Given the description of an element on the screen output the (x, y) to click on. 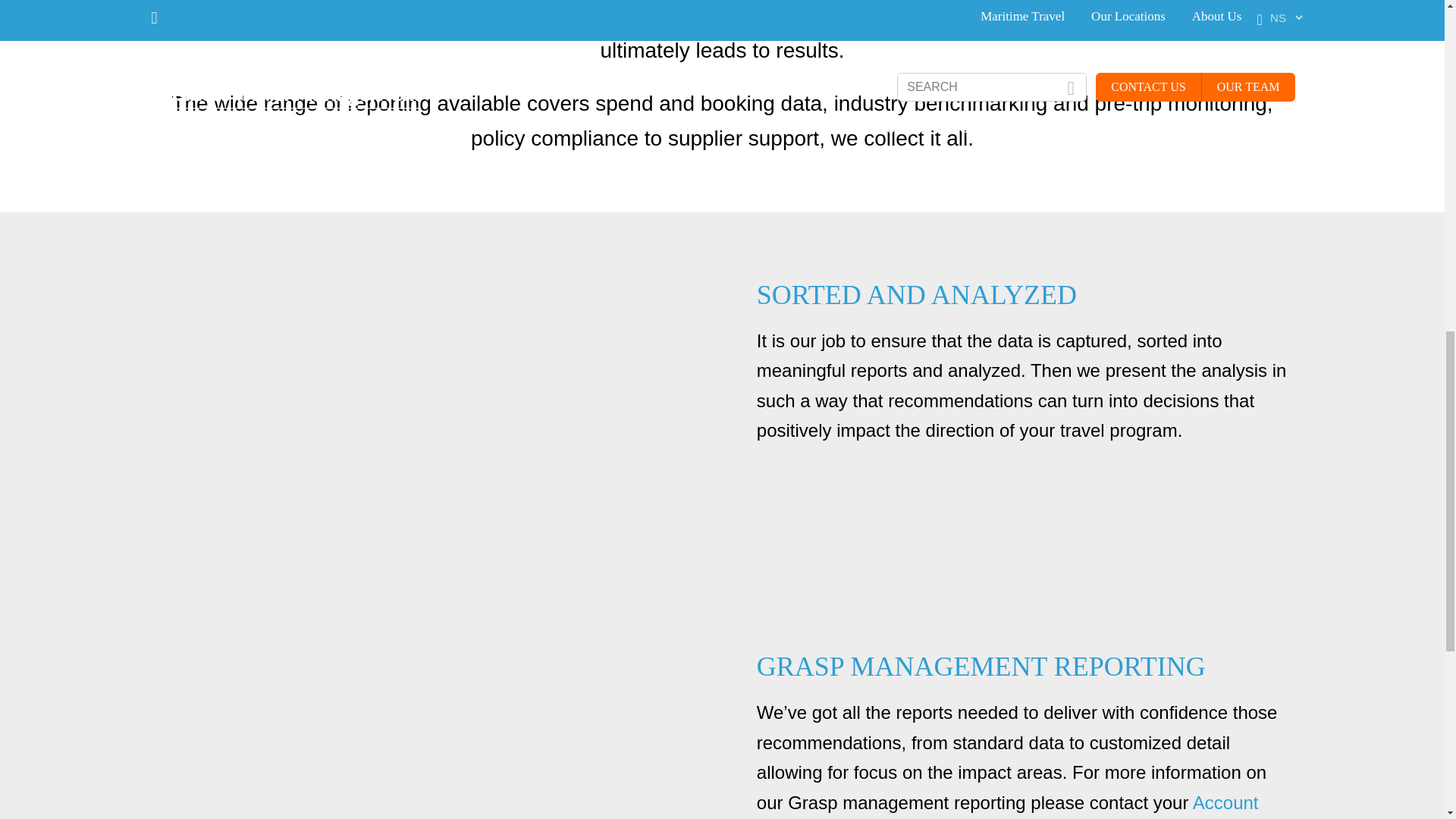
Tech-Suite-Photo-11 (418, 735)
Account Manager. (1008, 805)
